Given the description of an element on the screen output the (x, y) to click on. 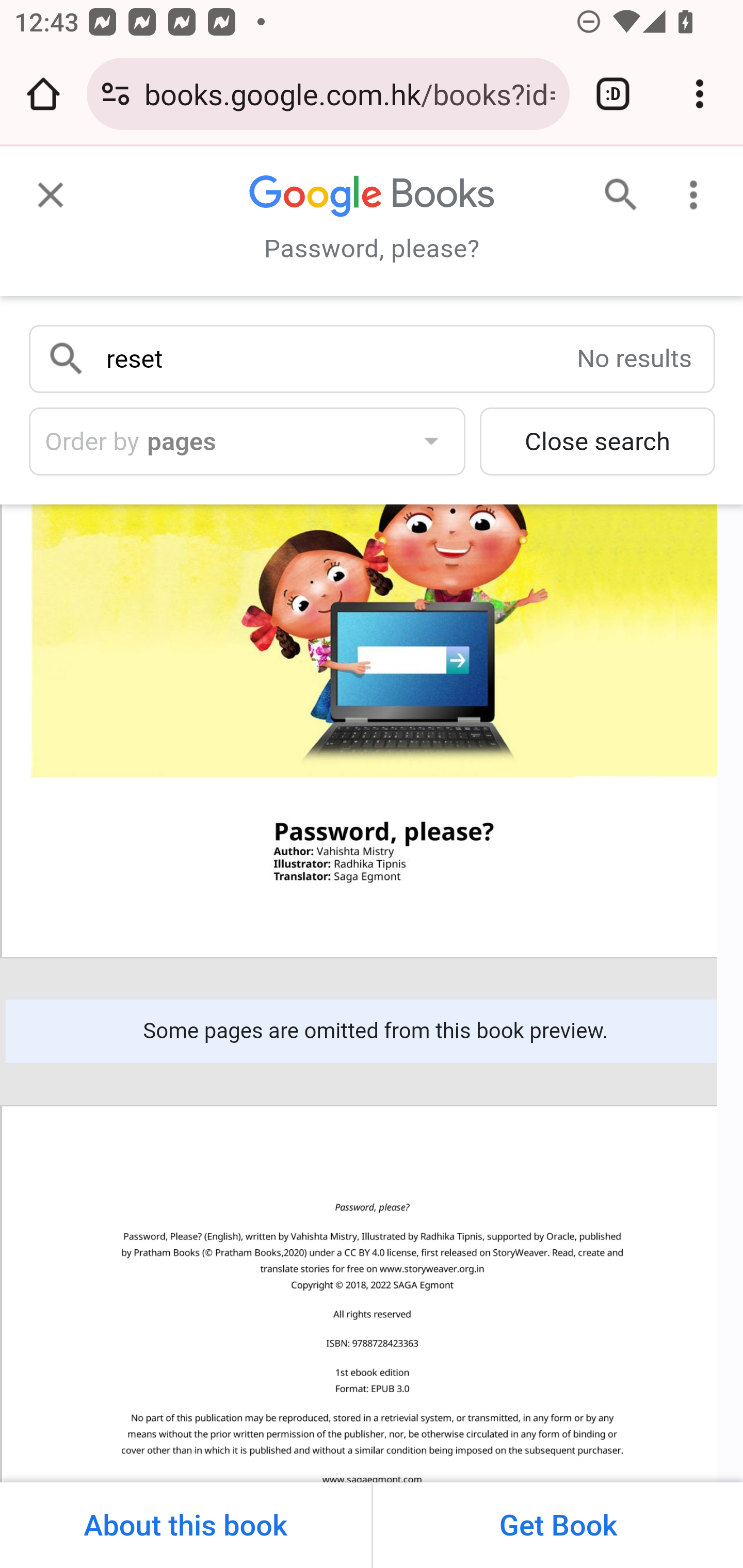
Open the home page (43, 93)
Connection is secure (115, 93)
Switch or close tabs (612, 93)
Customize and control Google Chrome (699, 93)
Close (44, 188)
Search in this book (614, 188)
More actions (700, 188)
reset (335, 354)
Close search (597, 444)
Order by pages (246, 445)
About this book (186, 1524)
Get Book (556, 1524)
